Given the description of an element on the screen output the (x, y) to click on. 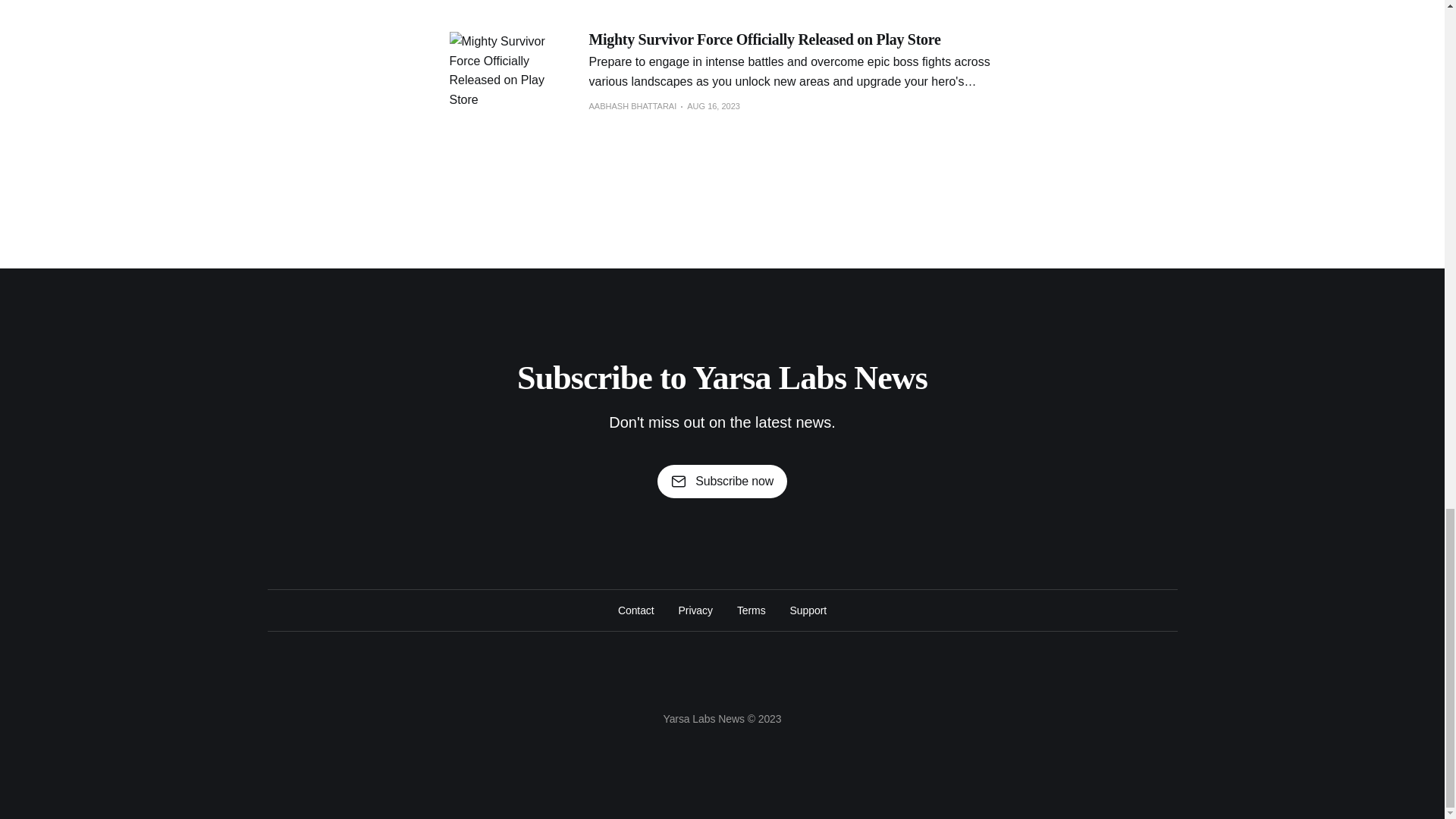
Privacy (695, 610)
Contact (635, 610)
Terms (750, 610)
Subscribe now (722, 481)
Support (808, 610)
